Given the description of an element on the screen output the (x, y) to click on. 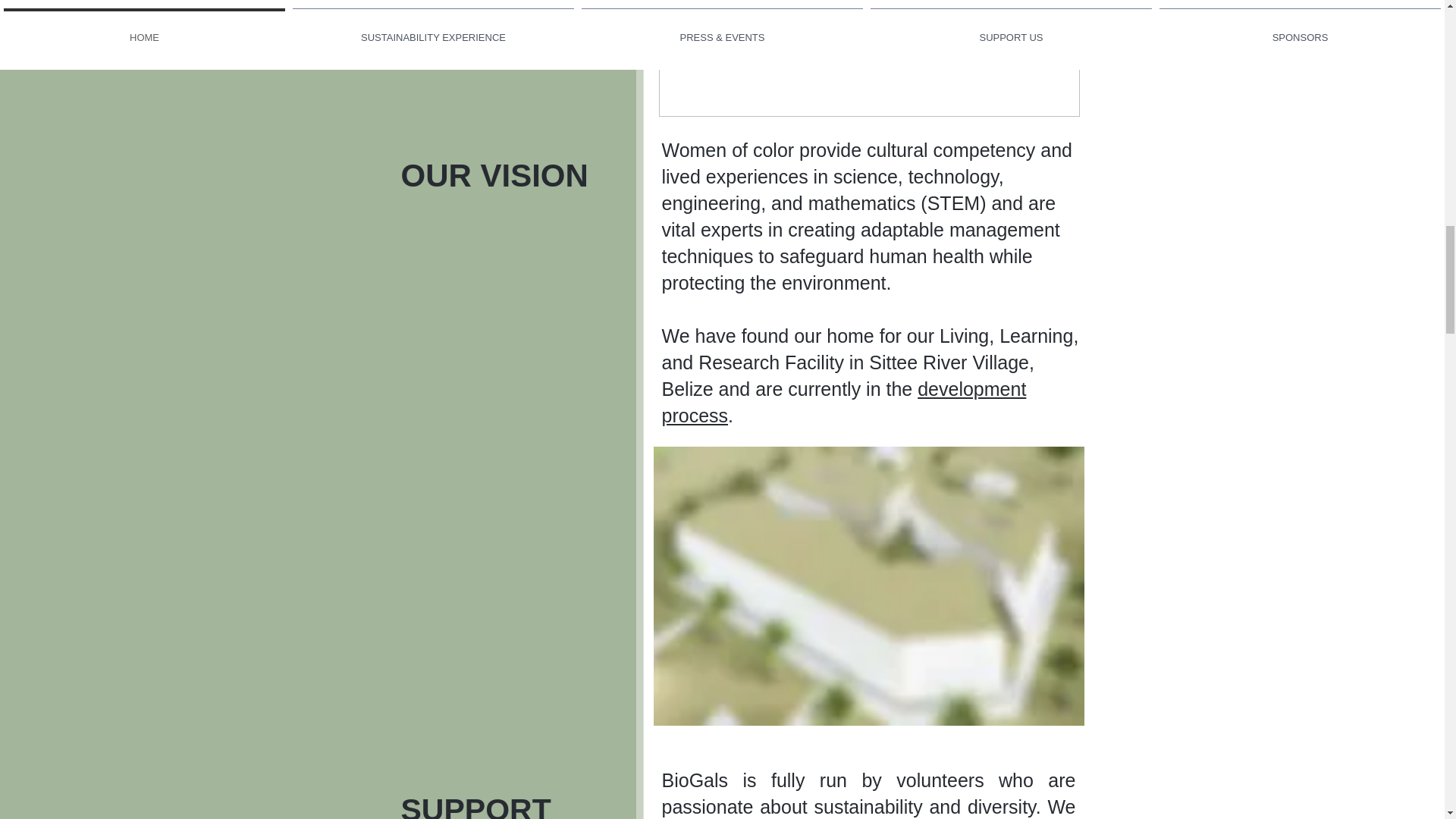
development process (843, 401)
